Given the description of an element on the screen output the (x, y) to click on. 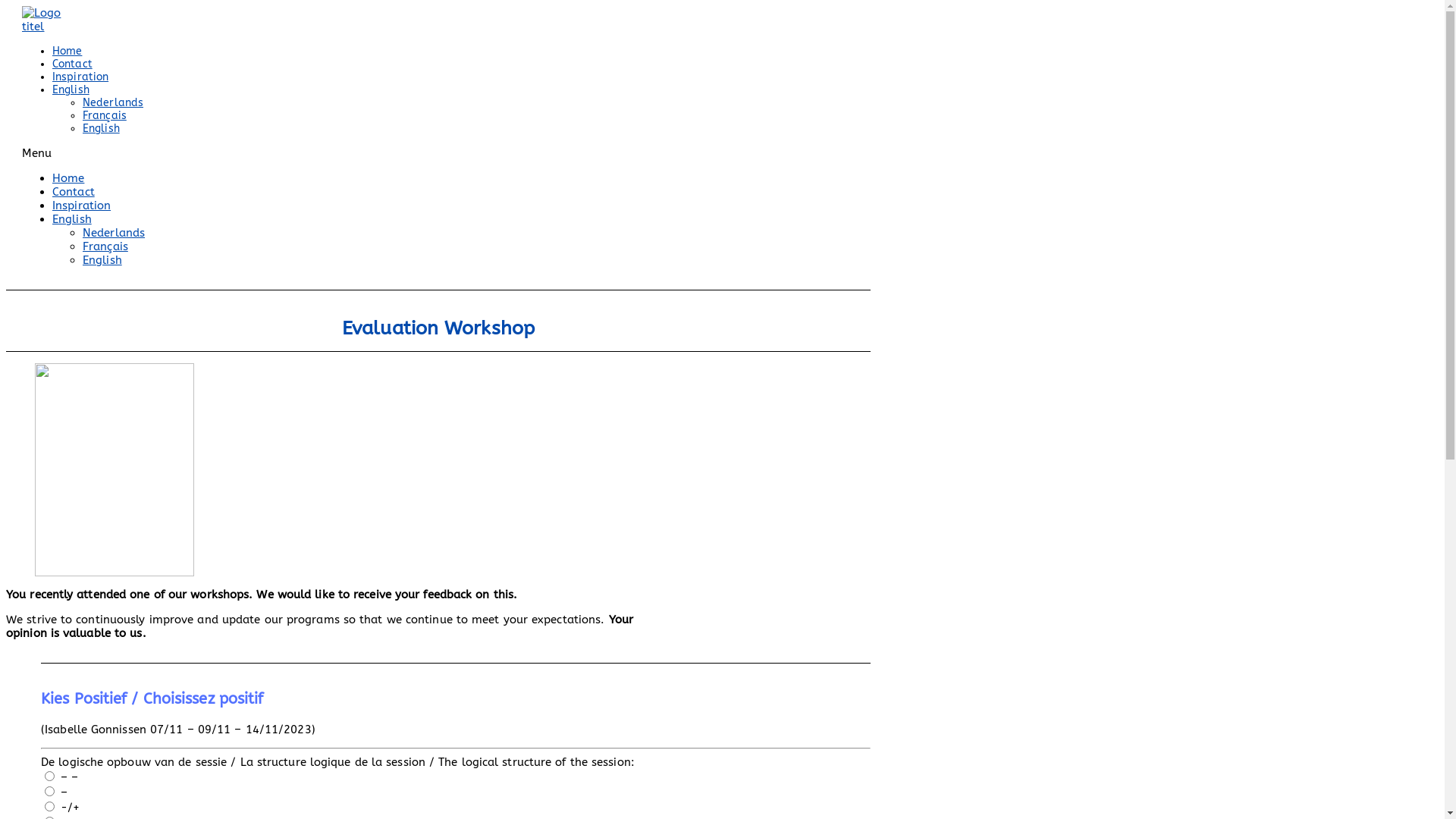
English Element type: text (71, 218)
Home Element type: text (68, 178)
Inspiration Element type: text (80, 76)
English Element type: text (100, 128)
Home Element type: text (66, 50)
Nederlands Element type: text (112, 102)
Contact Element type: text (73, 191)
Contact Element type: text (72, 63)
Inspiration Element type: text (81, 205)
English Element type: text (70, 89)
English Element type: text (102, 259)
Nederlands Element type: text (113, 232)
